Given the description of an element on the screen output the (x, y) to click on. 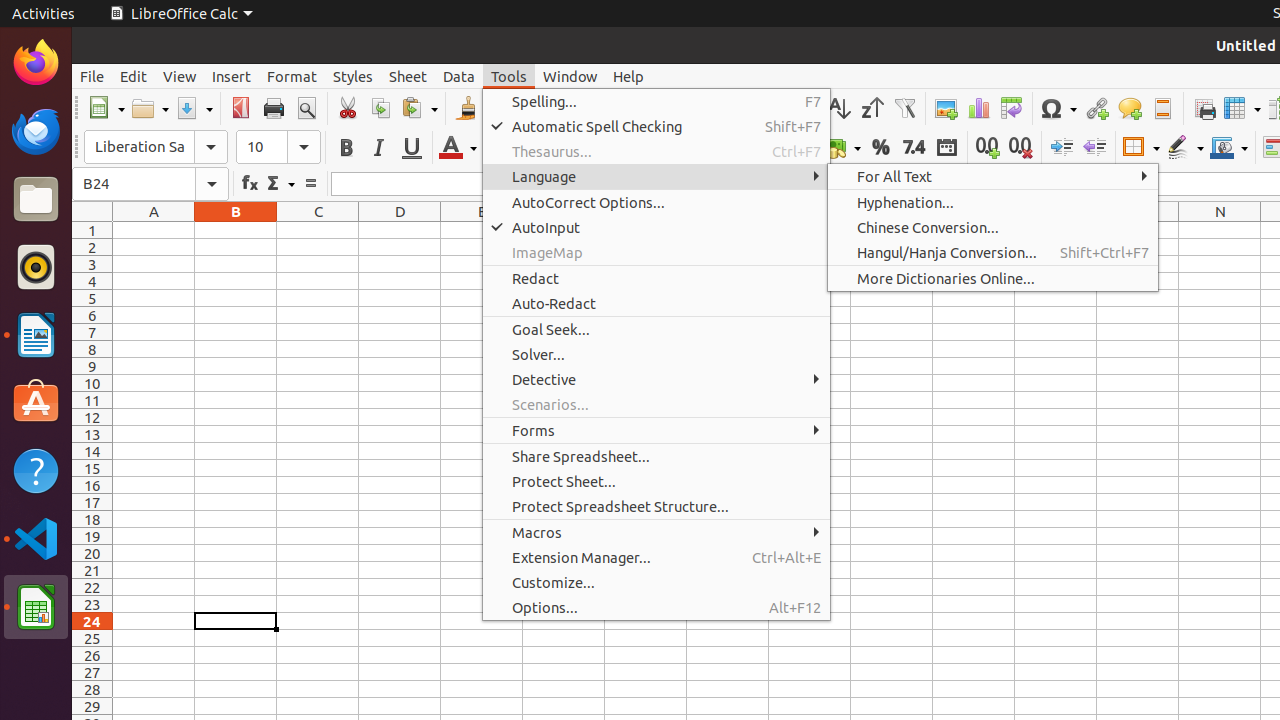
PDF Element type: push-button (240, 108)
Underline Element type: push-button (411, 147)
Copy Element type: push-button (380, 108)
LibreOffice Calc Element type: push-button (36, 607)
